Given the description of an element on the screen output the (x, y) to click on. 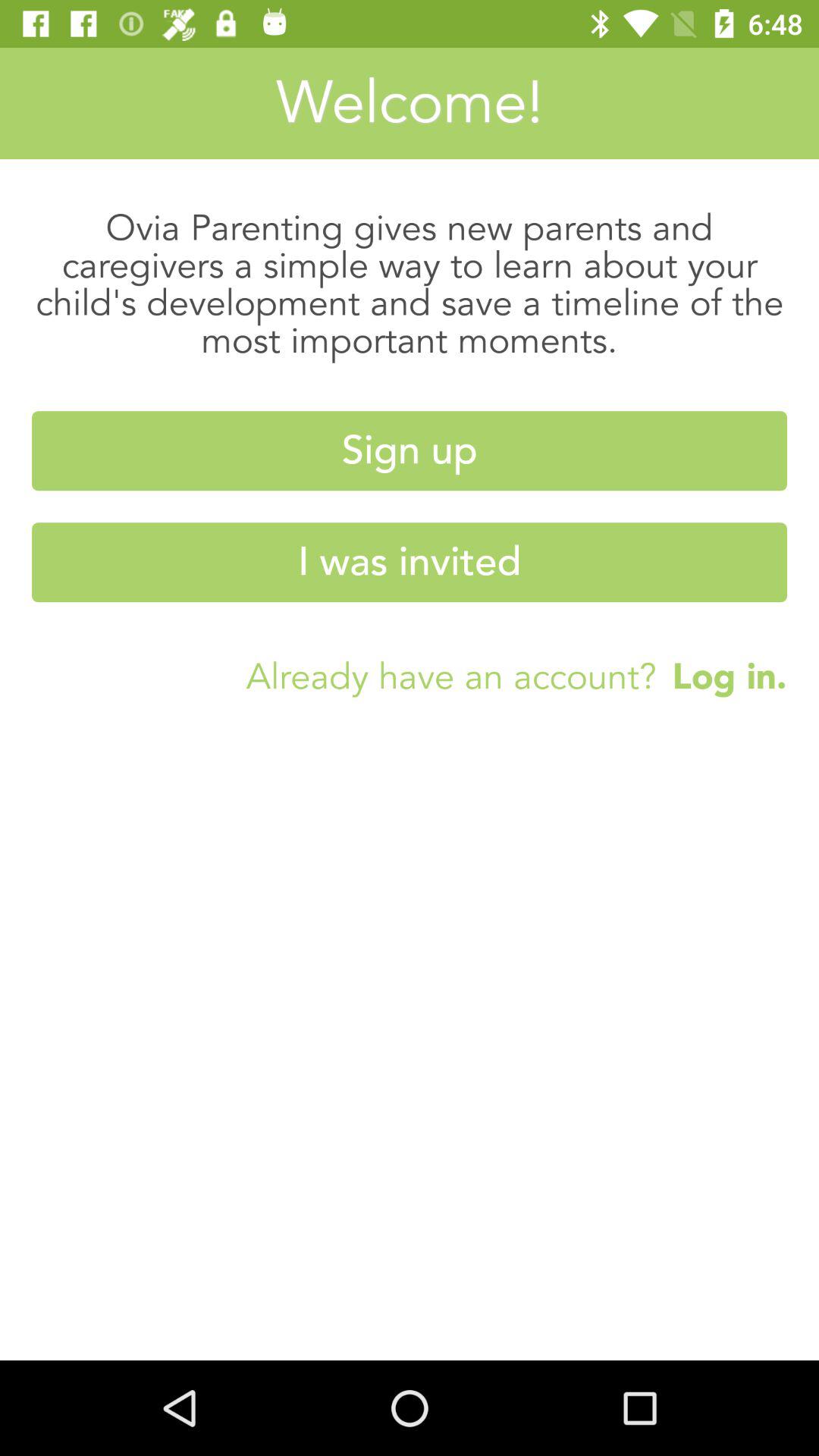
select the icon above the i was invited icon (409, 450)
